Given the description of an element on the screen output the (x, y) to click on. 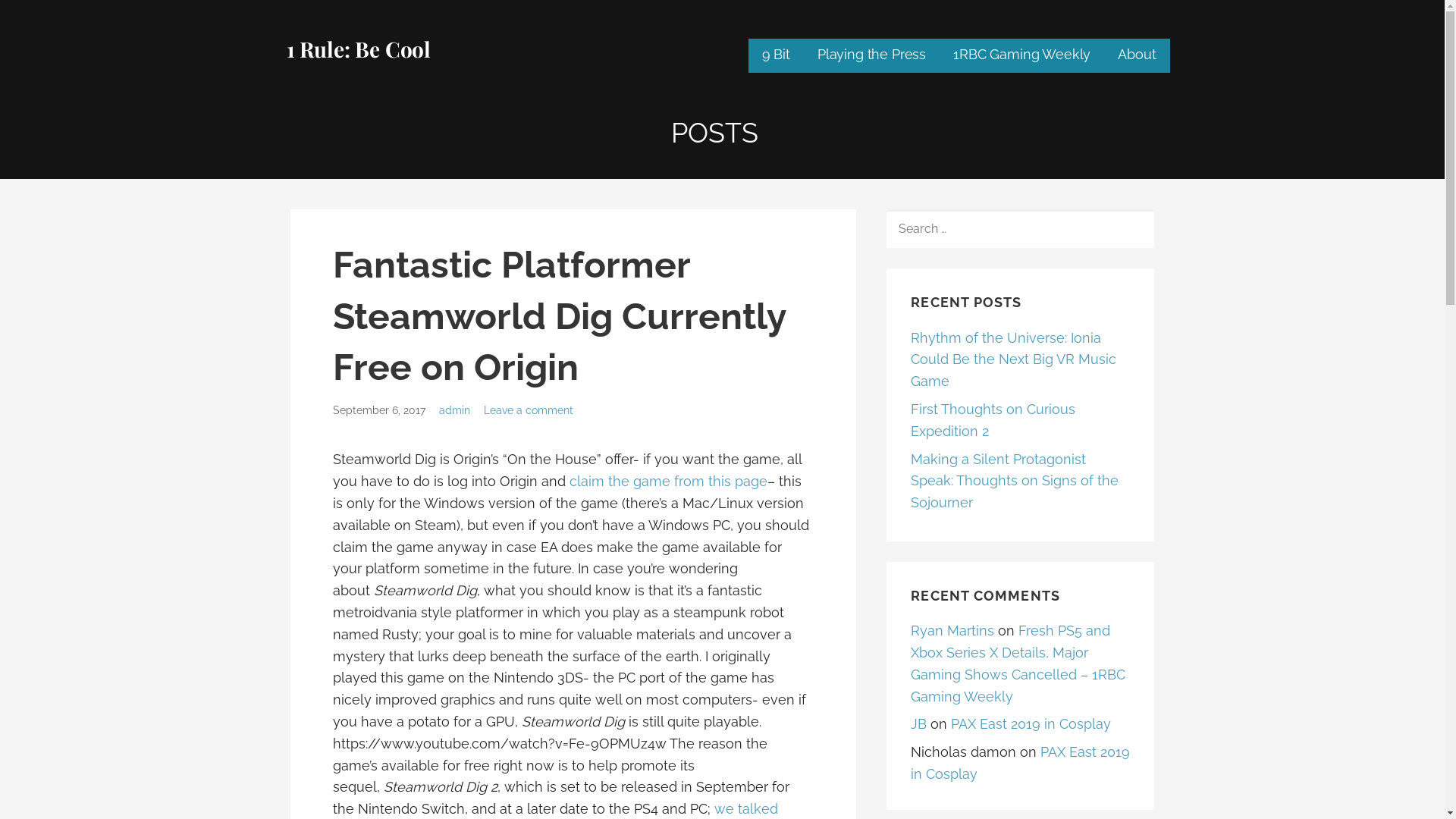
9 Bit Element type: text (776, 55)
admin Element type: text (454, 409)
1RBC Gaming Weekly Element type: text (1021, 55)
PAX East 2019 in Cosplay Element type: text (1019, 762)
JB Element type: text (918, 723)
1 Rule: Be Cool Element type: text (358, 48)
claim the game from this page Element type: text (667, 481)
PAX East 2019 in Cosplay Element type: text (1030, 723)
Search Element type: text (46, 17)
Leave a comment Element type: text (528, 409)
First Thoughts on Curious Expedition 2 Element type: text (992, 420)
Ryan Martins Element type: text (952, 630)
Playing the Press Element type: text (871, 55)
About Element type: text (1136, 55)
